Given the description of an element on the screen output the (x, y) to click on. 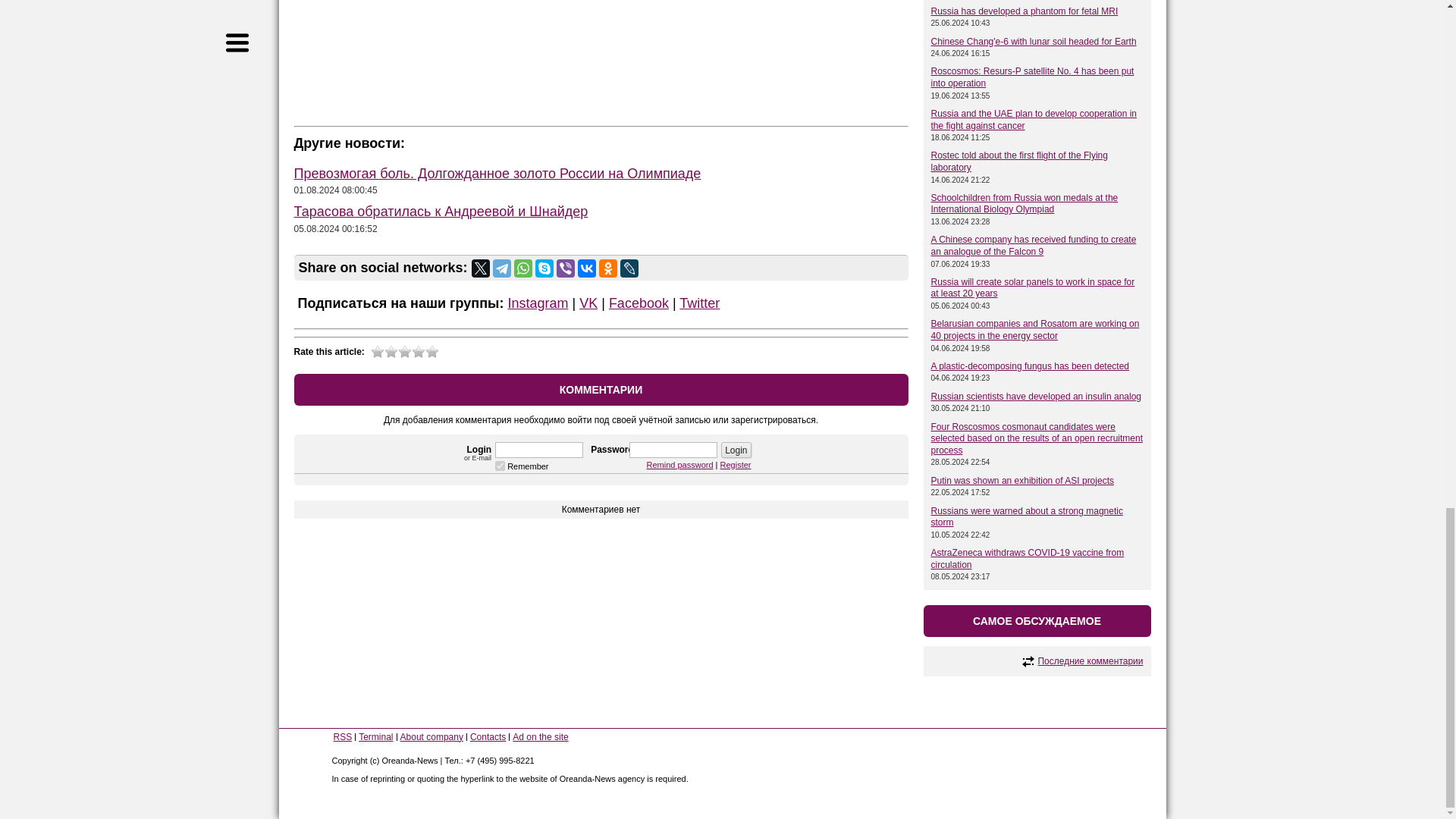
Telegram (502, 268)
1 (500, 465)
Twitter (480, 268)
WhatsApp (522, 268)
LiveJournal (629, 268)
Login (735, 449)
Skype (544, 268)
Viber (565, 268)
